Given the description of an element on the screen output the (x, y) to click on. 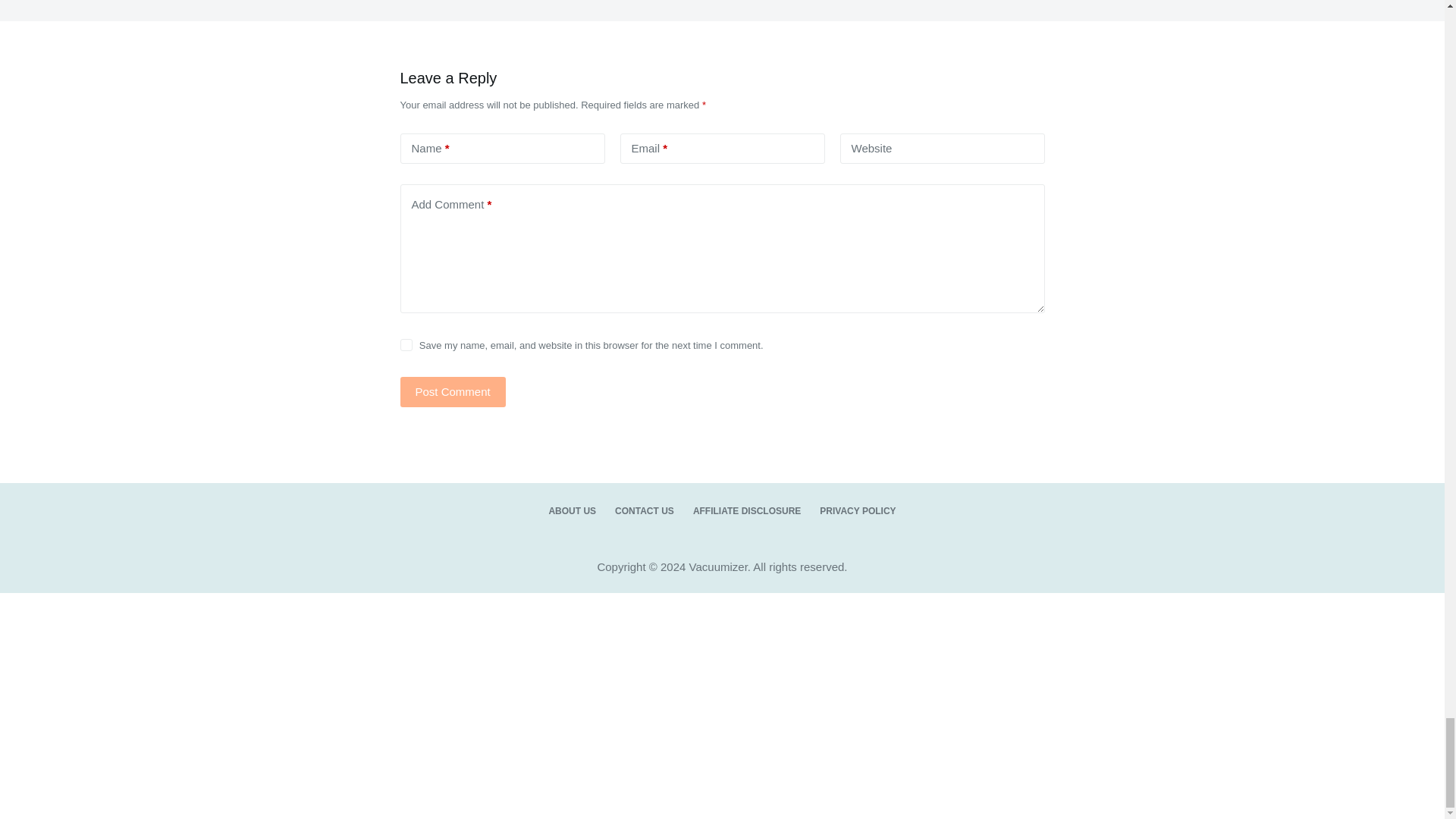
yes (406, 345)
